Given the description of an element on the screen output the (x, y) to click on. 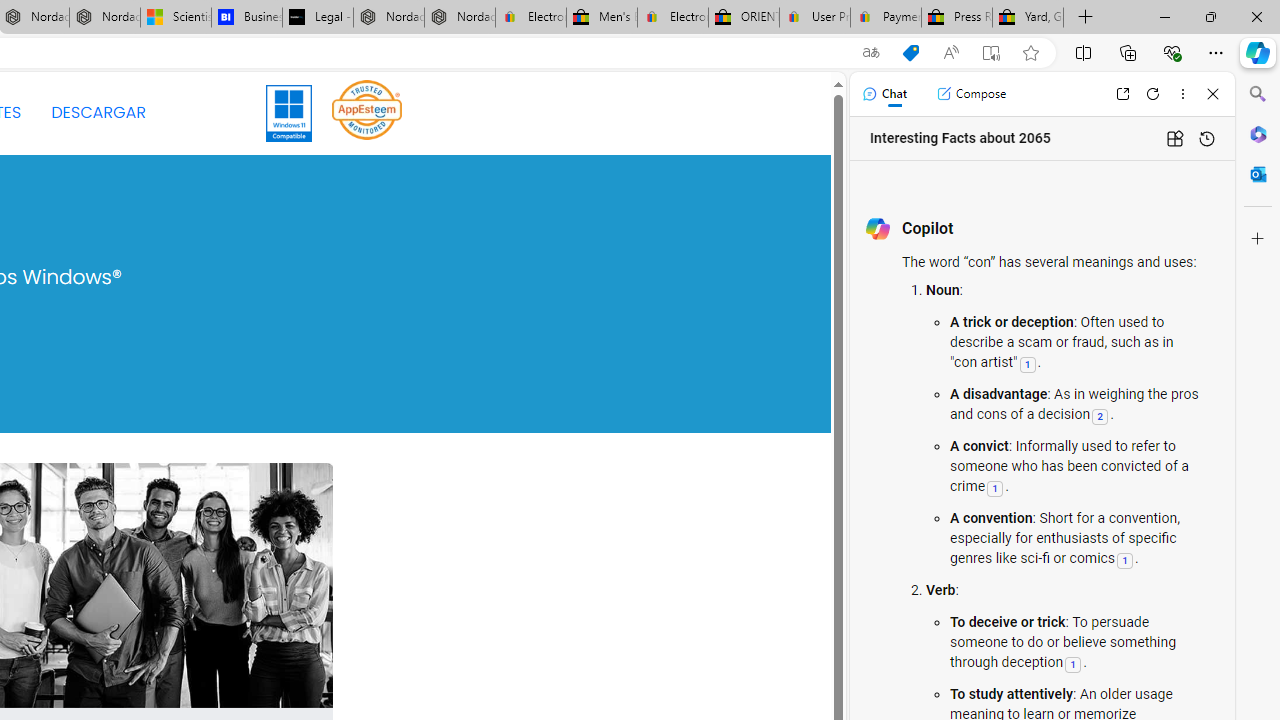
Compose (971, 93)
DESCARGAR (98, 112)
Enter Immersive Reader (F9) (991, 53)
Open link in new tab (1122, 93)
Press Room - eBay Inc. (956, 17)
User Privacy Notice | eBay (814, 17)
